Given the description of an element on the screen output the (x, y) to click on. 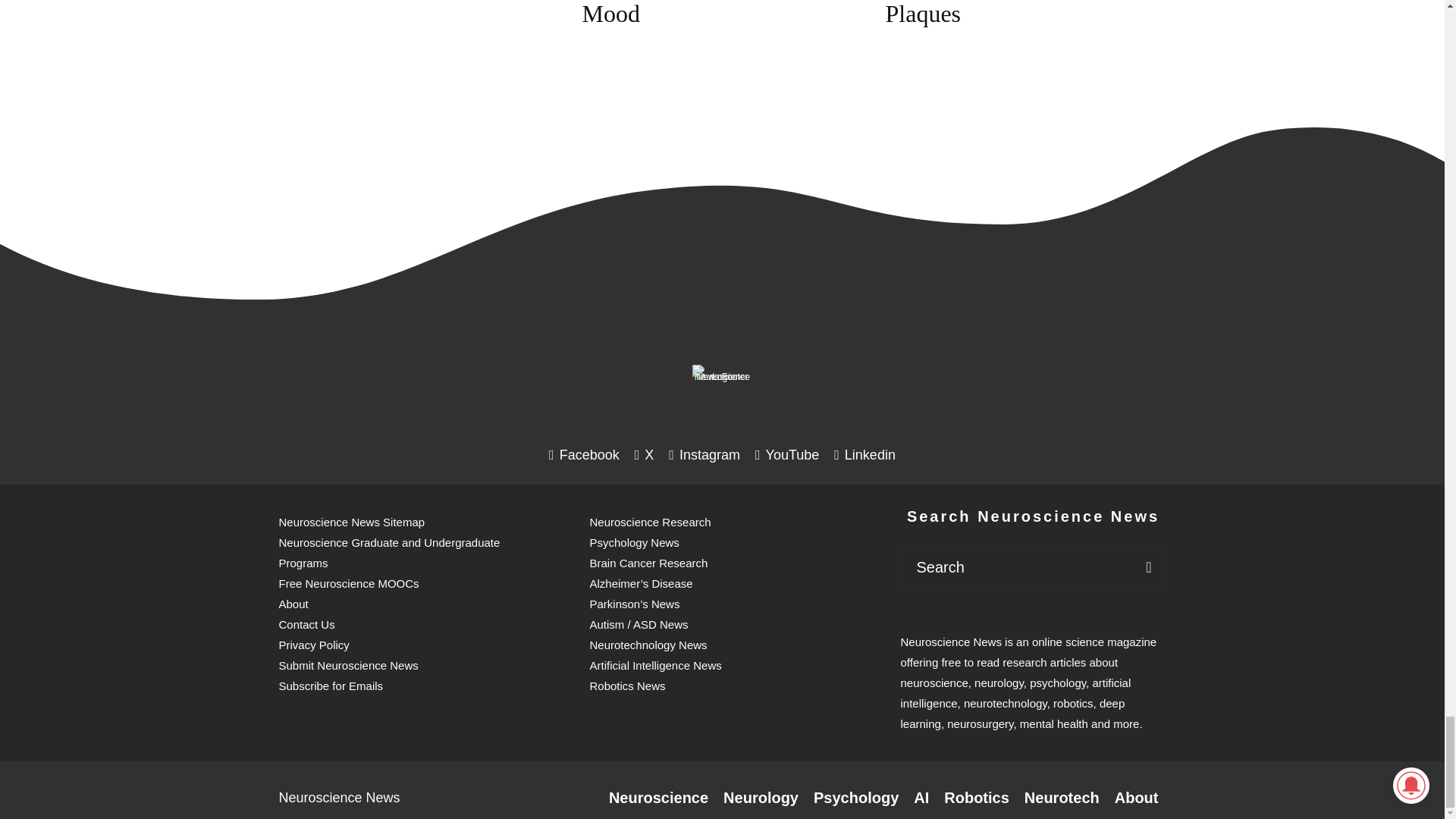
Neurology Research Articles (760, 797)
Psychology Research Articles (855, 797)
Neuroscience Research (657, 797)
